Given the description of an element on the screen output the (x, y) to click on. 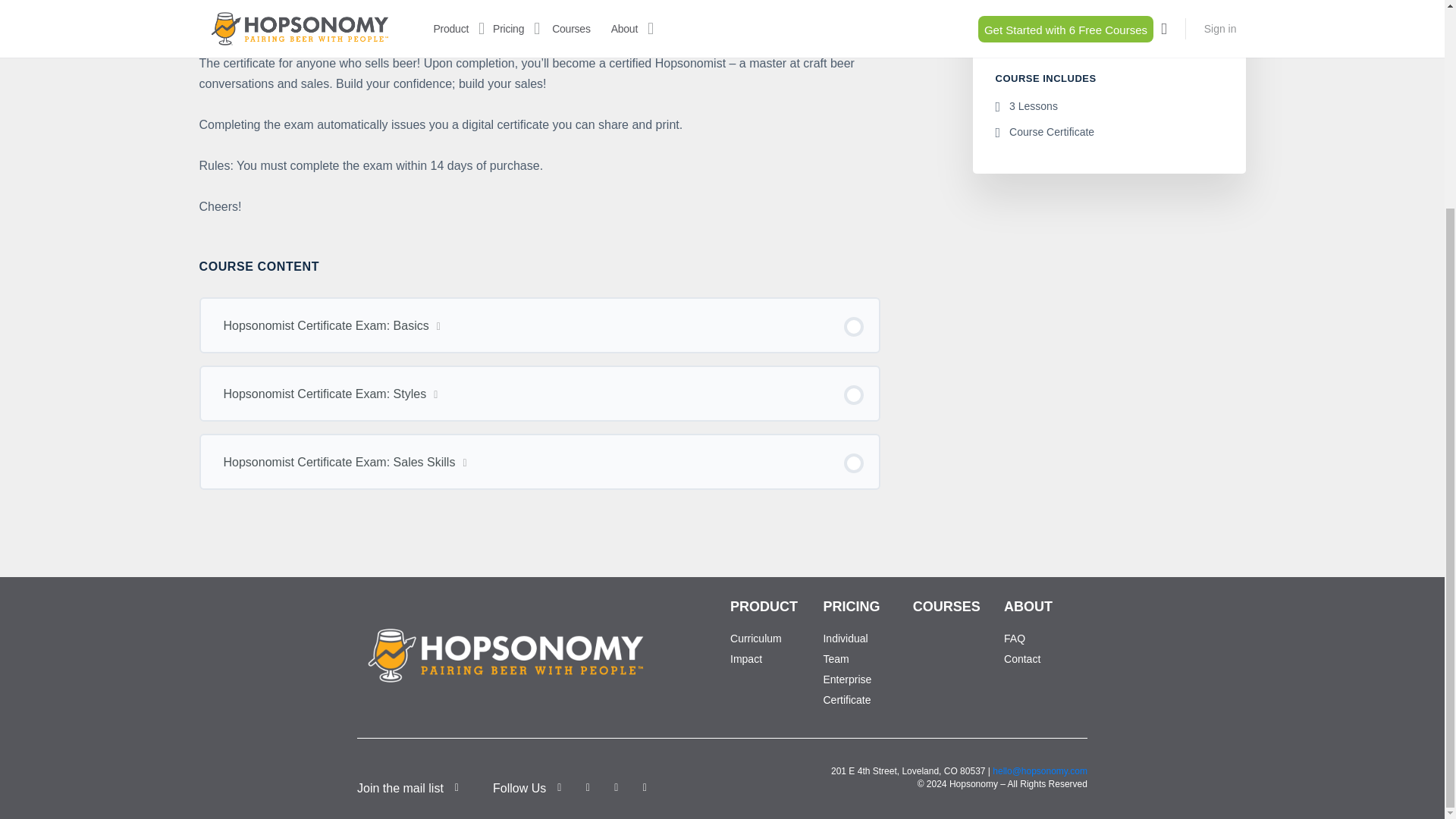
Log In (528, 193)
